Given the description of an element on the screen output the (x, y) to click on. 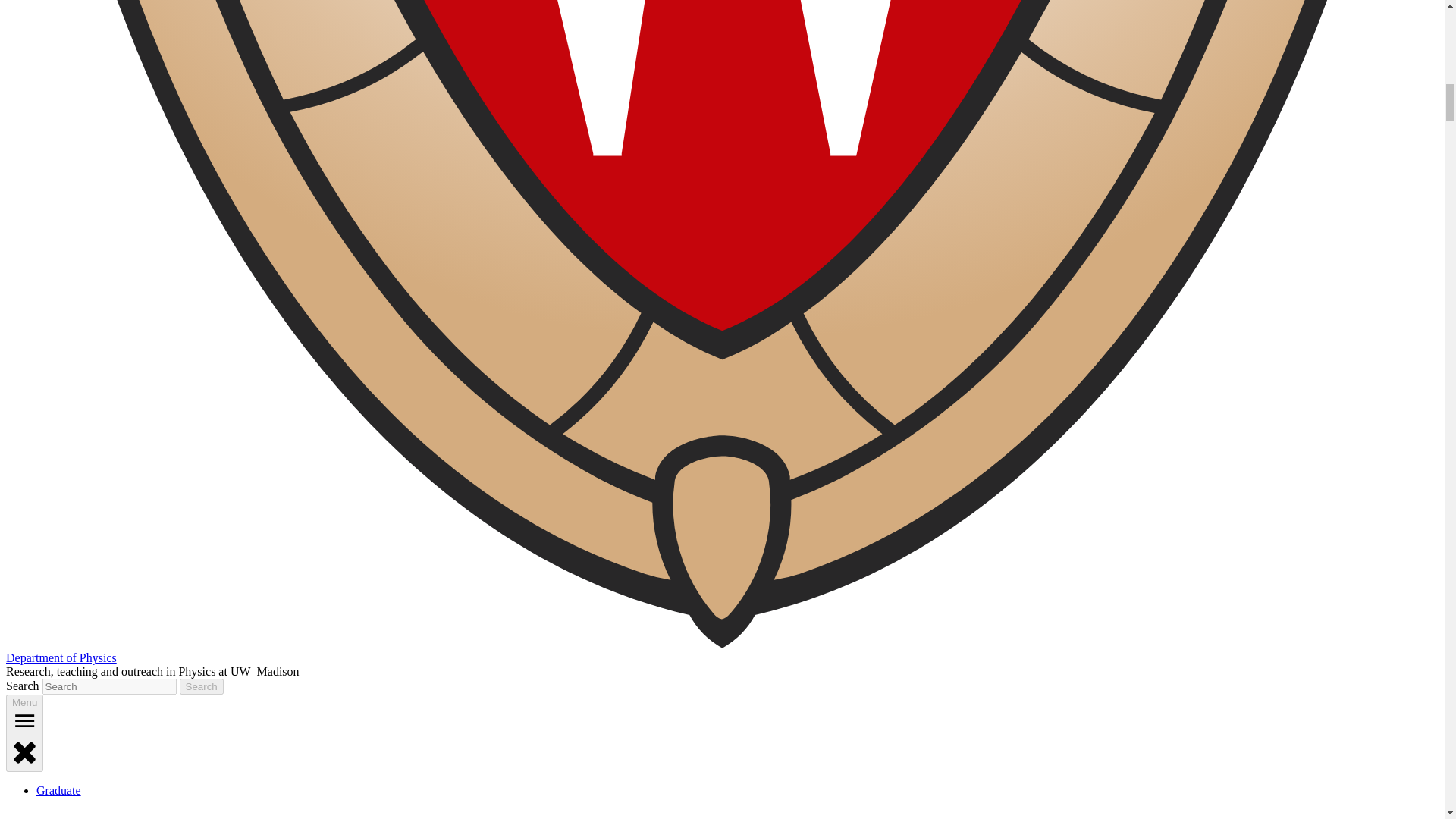
Search (201, 686)
Search (201, 686)
Department of Physics (60, 657)
Search (201, 686)
open menu (24, 720)
